Given the description of an element on the screen output the (x, y) to click on. 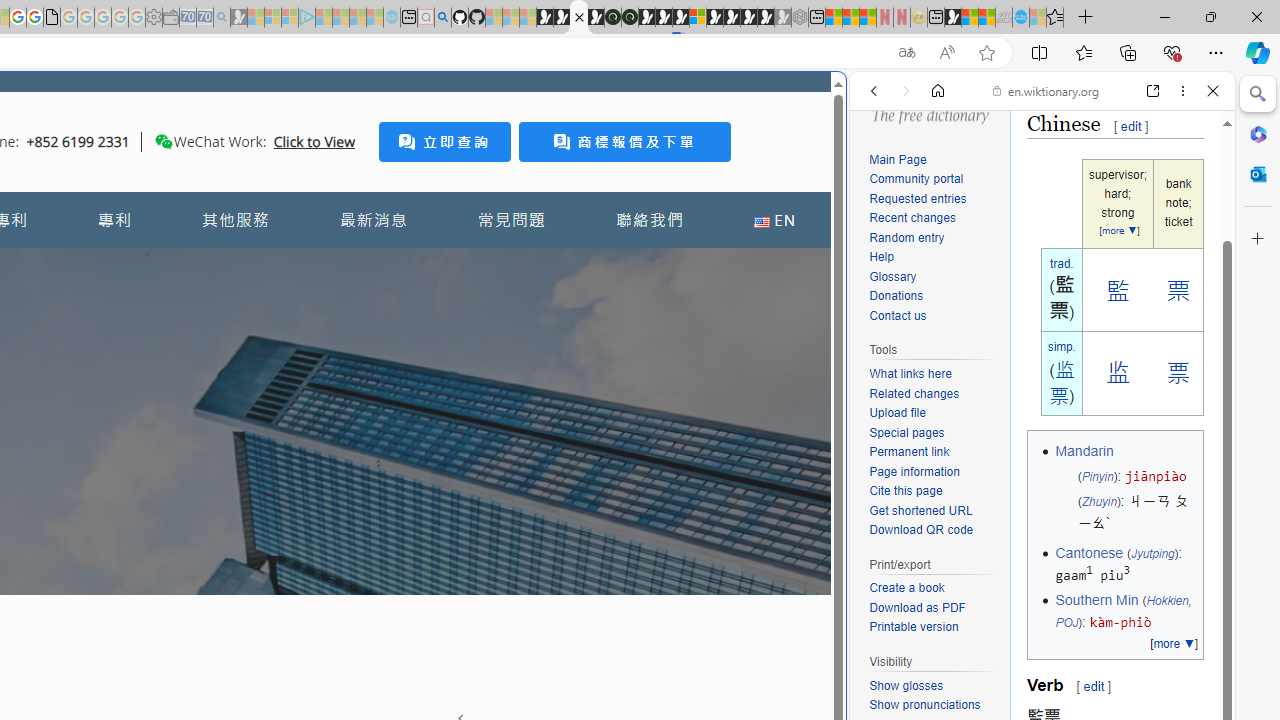
Play Cave FRVR in your browser | Games from Microsoft Start (663, 17)
Show glosses (934, 686)
github - Search (442, 17)
Wiktionary (1034, 669)
Download as PDF (917, 606)
